Given the description of an element on the screen output the (x, y) to click on. 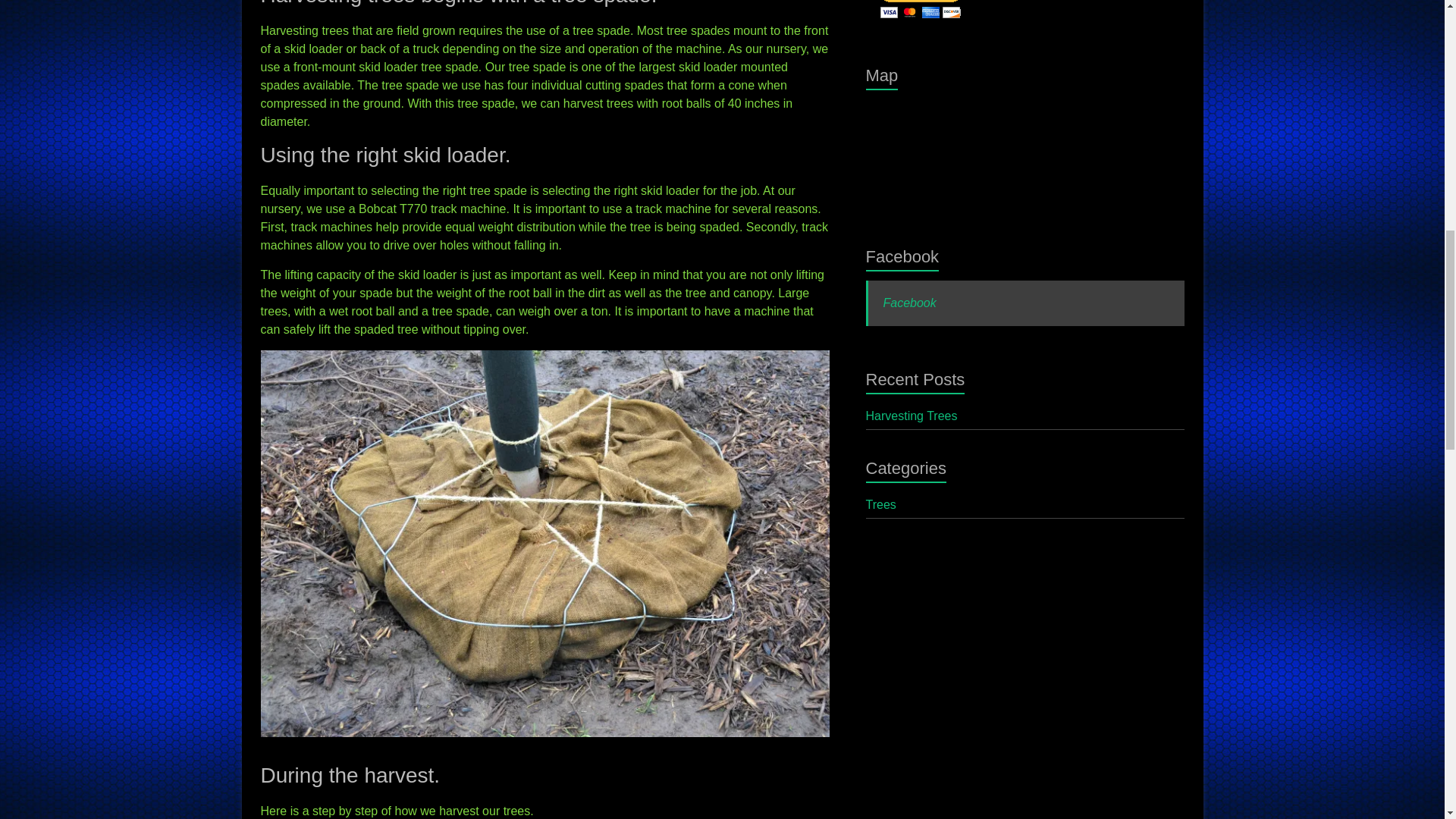
Facebook (902, 256)
